Given the description of an element on the screen output the (x, y) to click on. 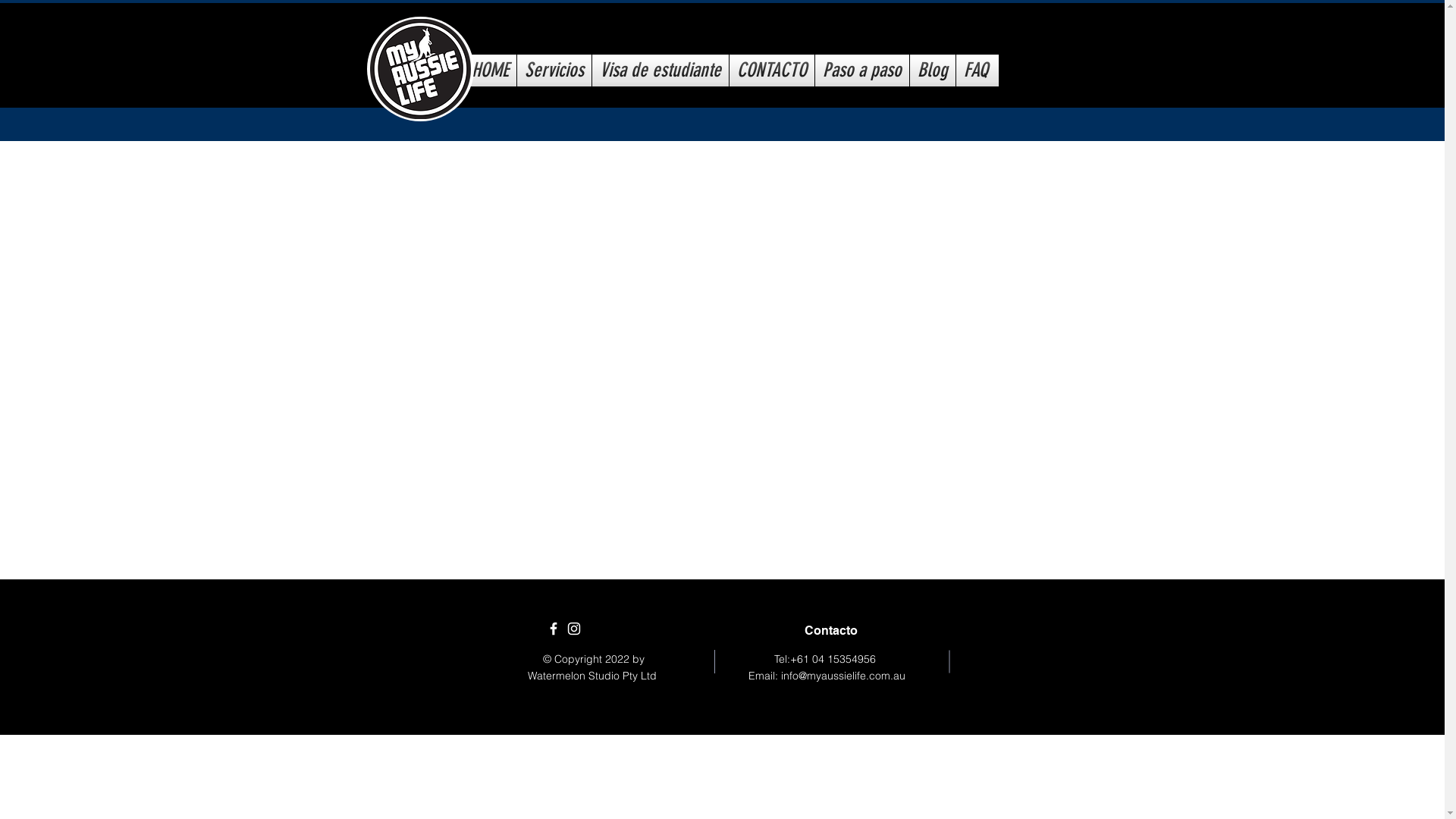
Paso a paso Element type: text (862, 70)
CONTACTO Element type: text (771, 70)
Blog Element type: text (932, 70)
info@myaussielife.com.au Element type: text (843, 675)
HOME Element type: text (490, 70)
Visa de estudiante Element type: text (660, 70)
FAQ Element type: text (975, 70)
Servicios Element type: text (554, 70)
